Given the description of an element on the screen output the (x, y) to click on. 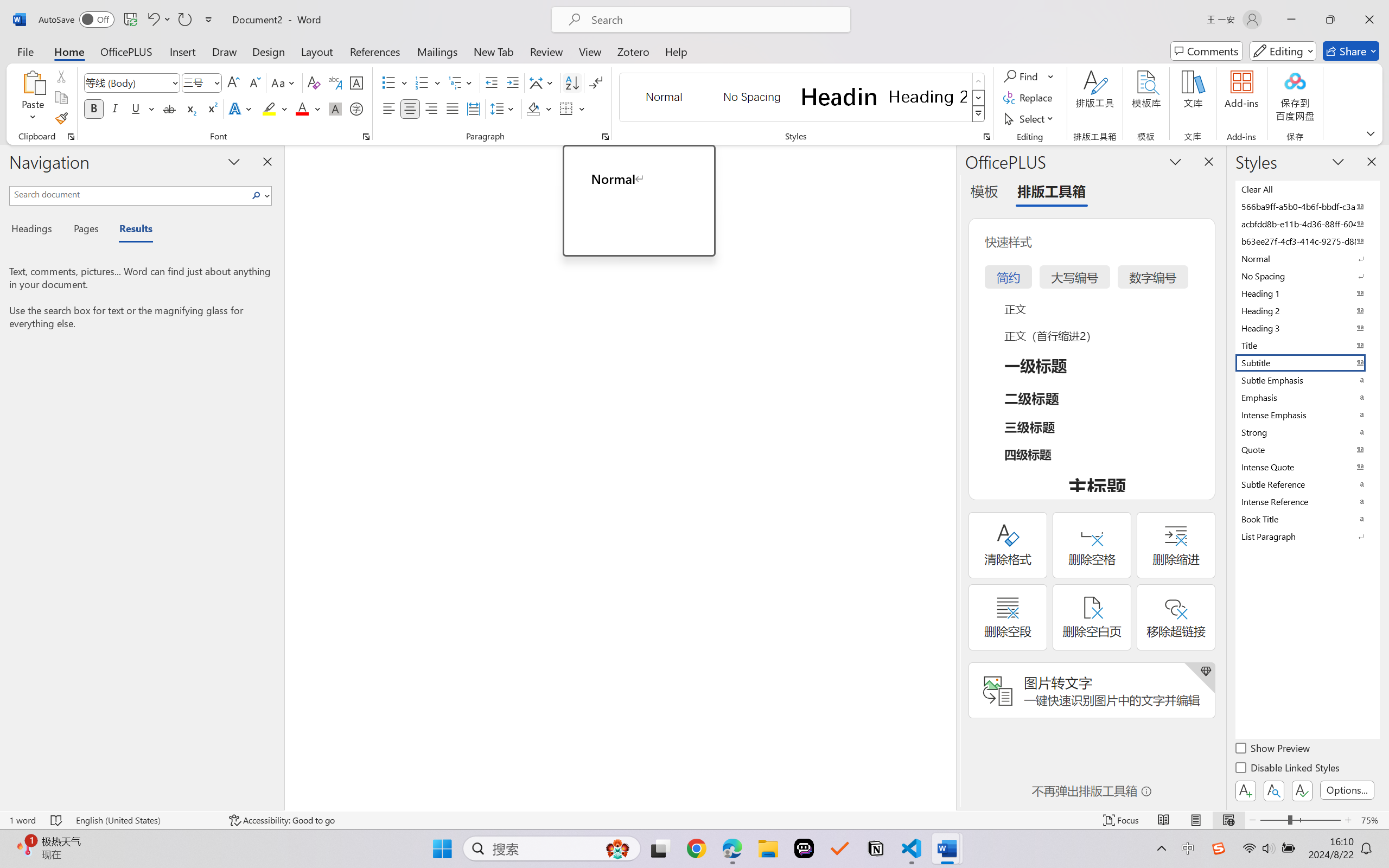
OfficePLUS (126, 51)
Zoom Out (1273, 819)
Intense Emphasis (1306, 414)
Mode (1283, 50)
Zotero (632, 51)
Strong (1306, 431)
Center (409, 108)
AutomationID: DynamicSearchBoxGleamImage (617, 848)
Disable Linked Styles (1287, 769)
Text Highlight Color (274, 108)
